Given the description of an element on the screen output the (x, y) to click on. 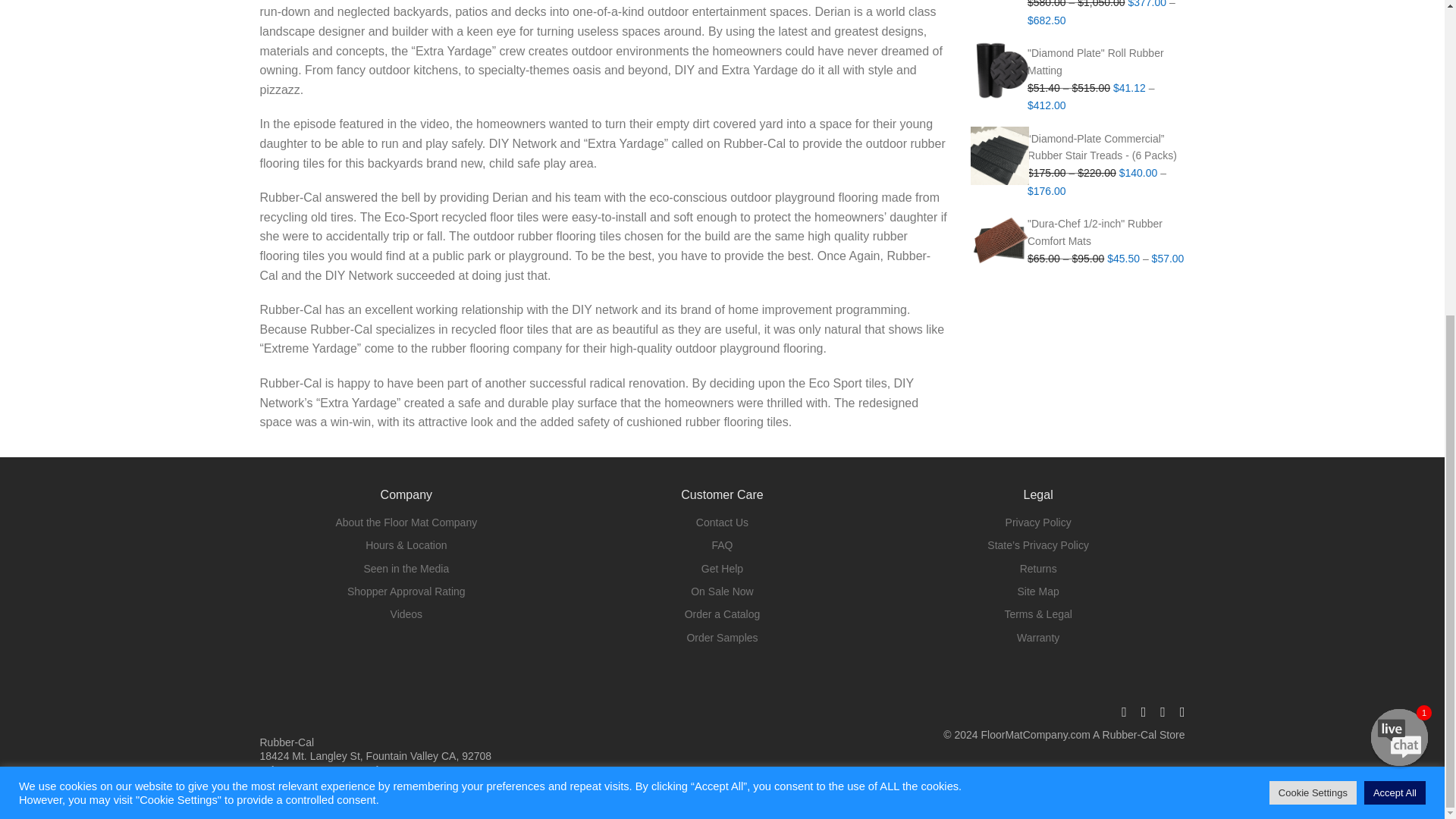
Re:amaze Chat (1298, 101)
